Given the description of an element on the screen output the (x, y) to click on. 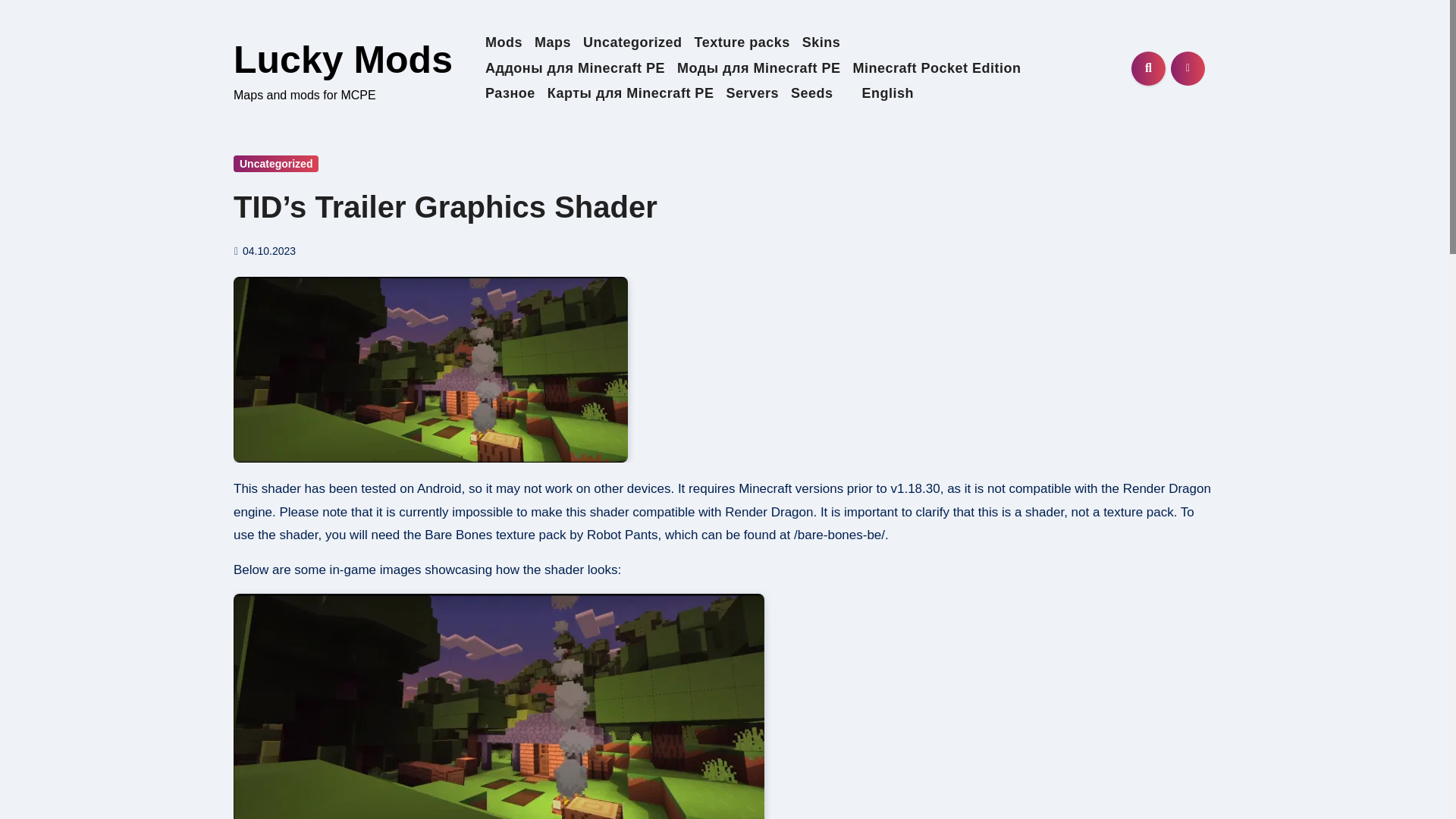
Skins (821, 42)
Mods (503, 42)
Maps (552, 42)
Servers (751, 93)
Seeds (812, 93)
Texture packs (742, 42)
Seeds (812, 93)
Minecraft Pocket Edition (935, 67)
Texture packs (742, 42)
Servers (751, 93)
English (879, 93)
Uncategorized (275, 163)
Uncategorized (632, 42)
Mods (503, 42)
Uncategorized (632, 42)
